Given the description of an element on the screen output the (x, y) to click on. 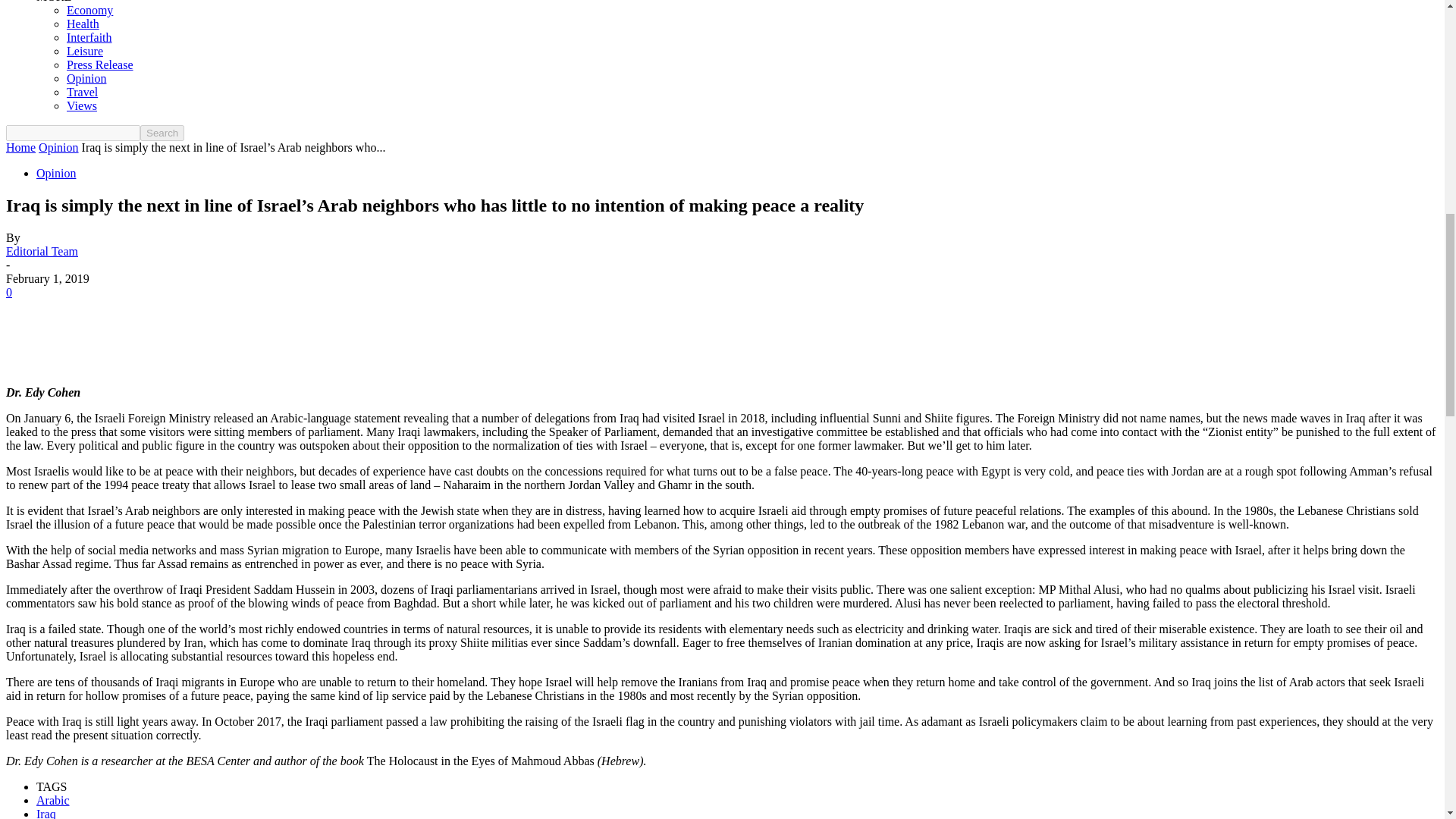
View all posts in Opinion (58, 146)
topFacebookLike (118, 307)
Search (161, 132)
